Given the description of an element on the screen output the (x, y) to click on. 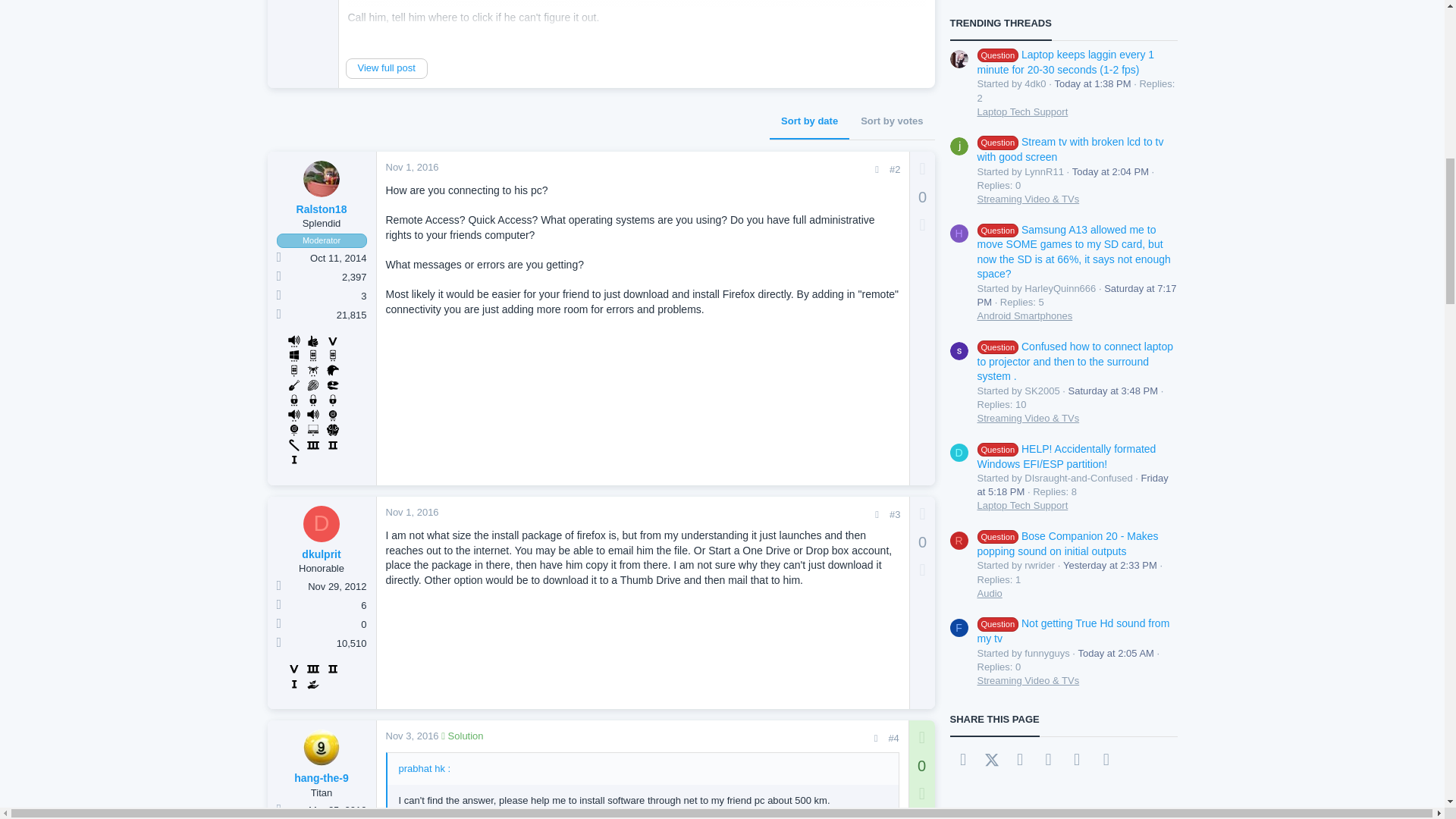
Nov 3, 2016 at 1:29 PM (411, 736)
Nov 1, 2016 at 1:24 PM (411, 166)
Nov 1, 2016 at 4:11 PM (411, 511)
